Given the description of an element on the screen output the (x, y) to click on. 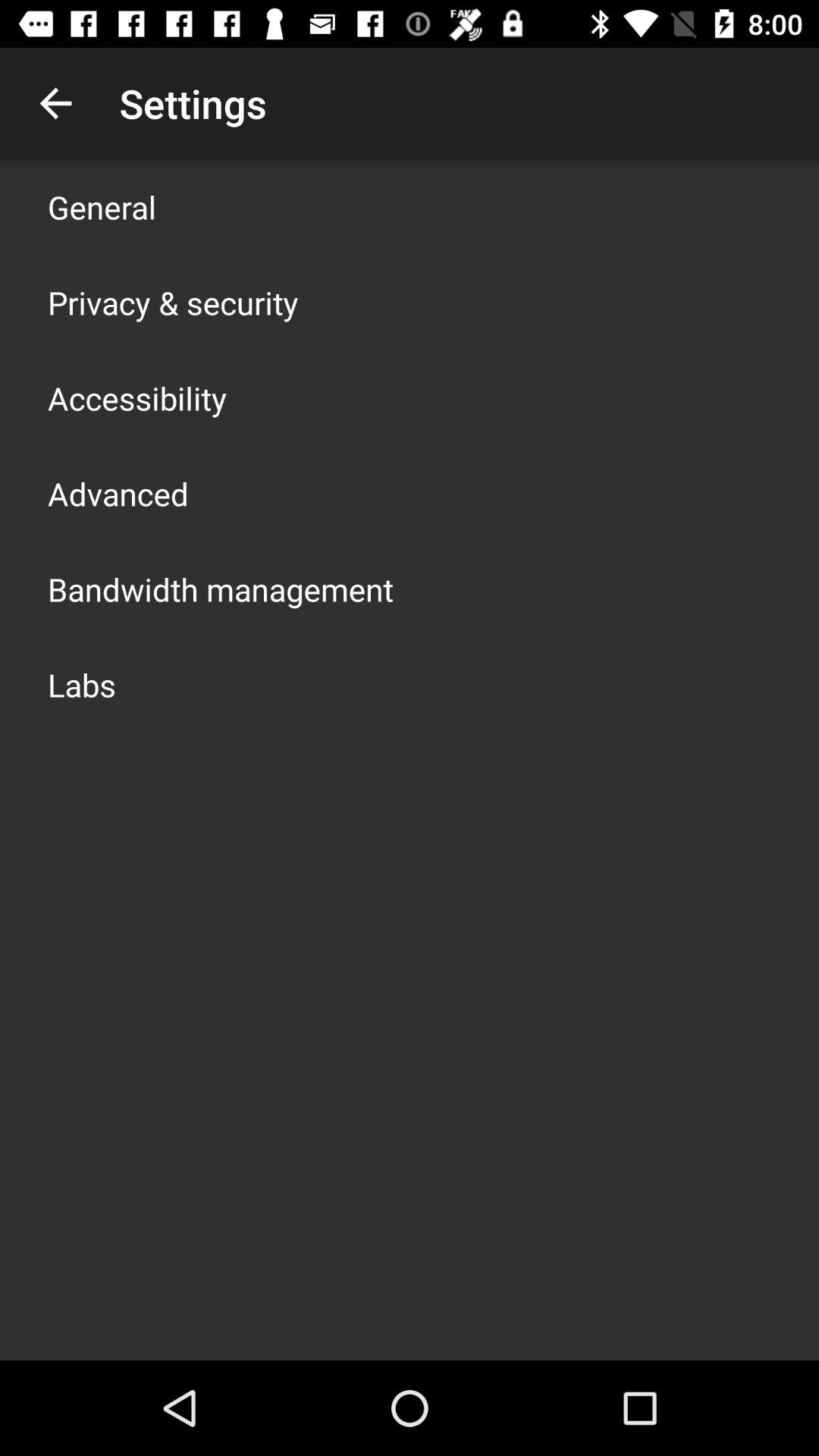
turn on general (101, 206)
